Given the description of an element on the screen output the (x, y) to click on. 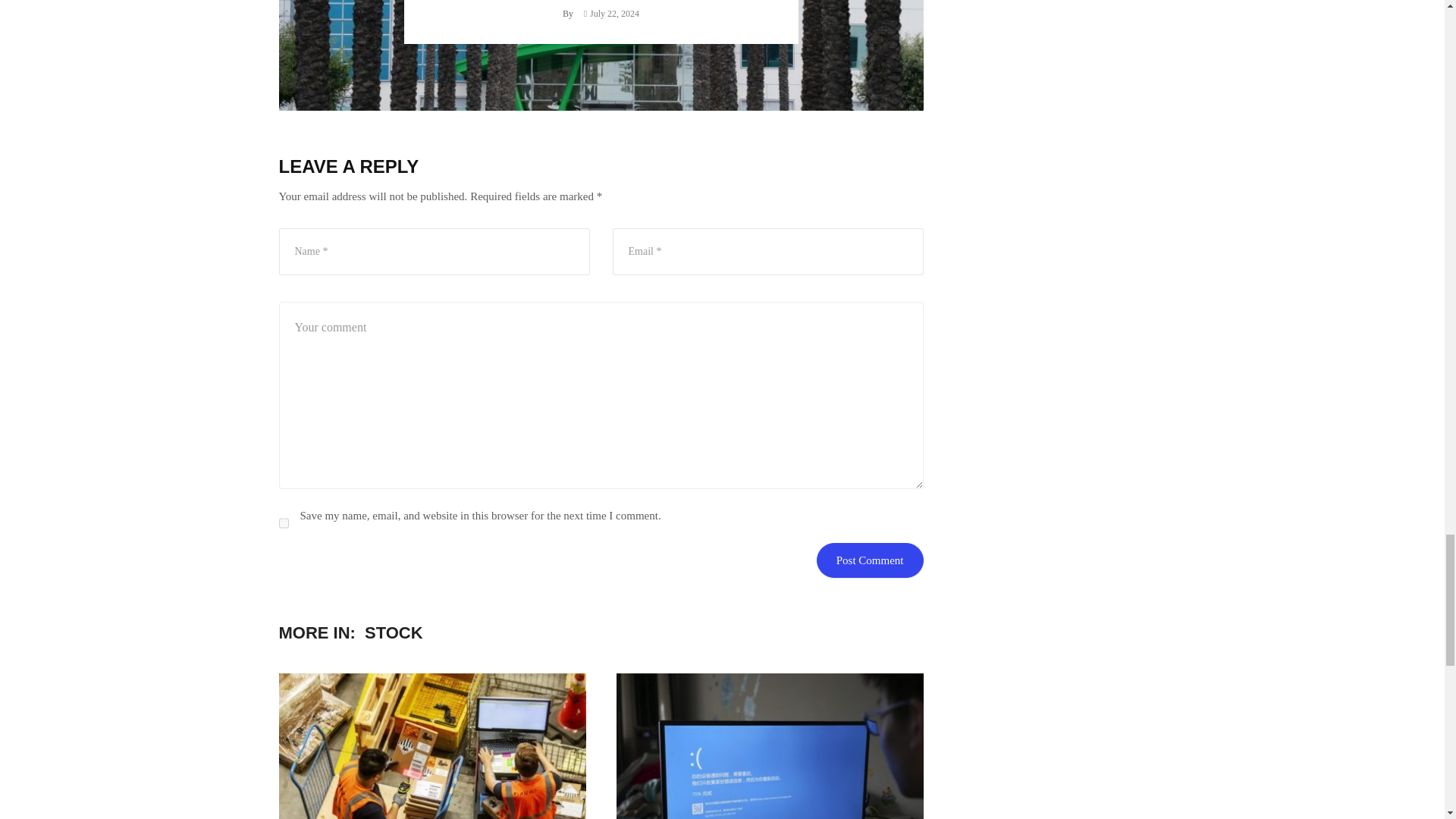
Post Comment (869, 560)
